Given the description of an element on the screen output the (x, y) to click on. 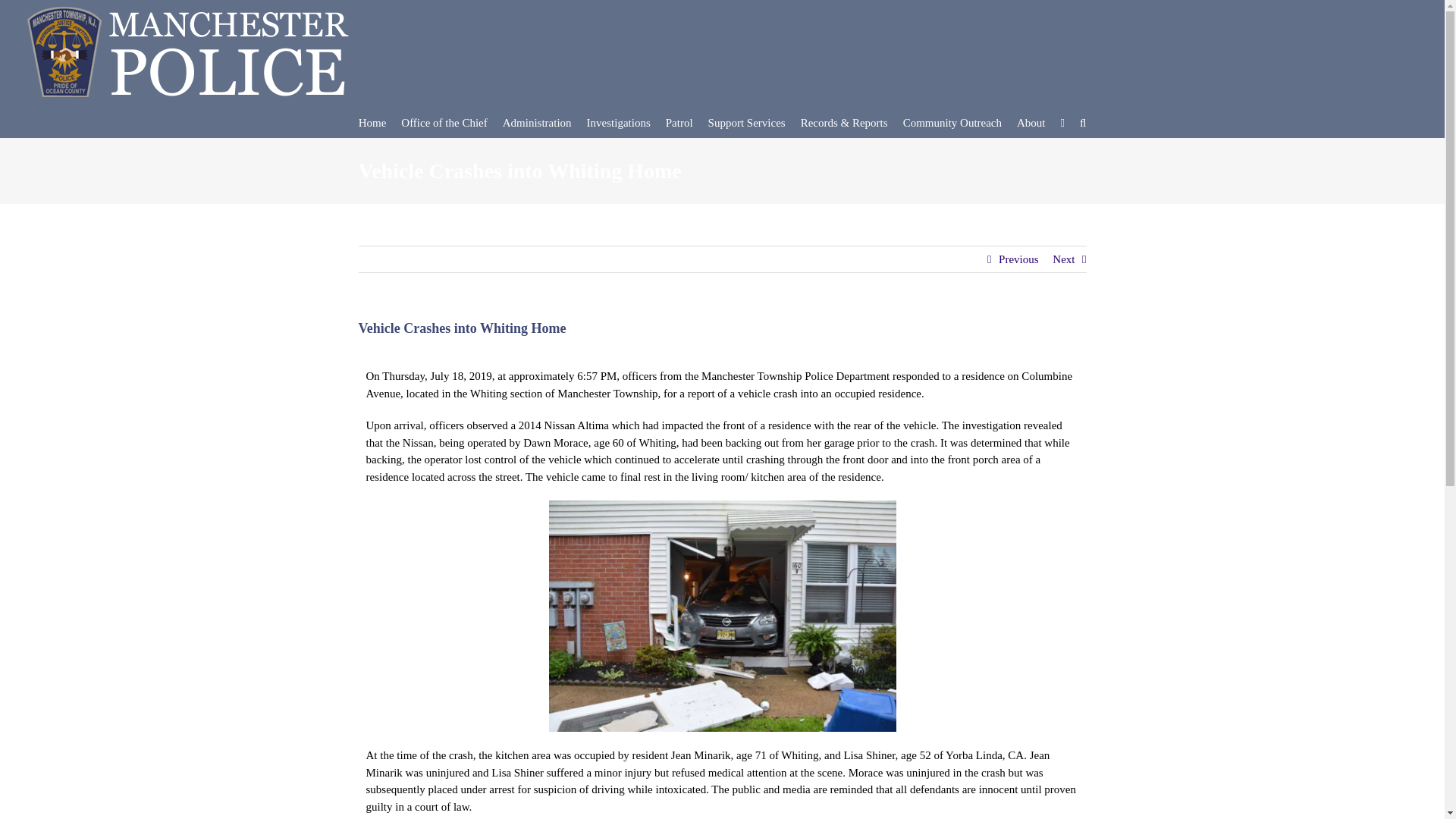
Administration (537, 122)
Community Outreach (951, 122)
Patrol (679, 122)
Investigations (618, 122)
Support Services (746, 122)
Home (372, 122)
Office of the Chief (443, 122)
